Given the description of an element on the screen output the (x, y) to click on. 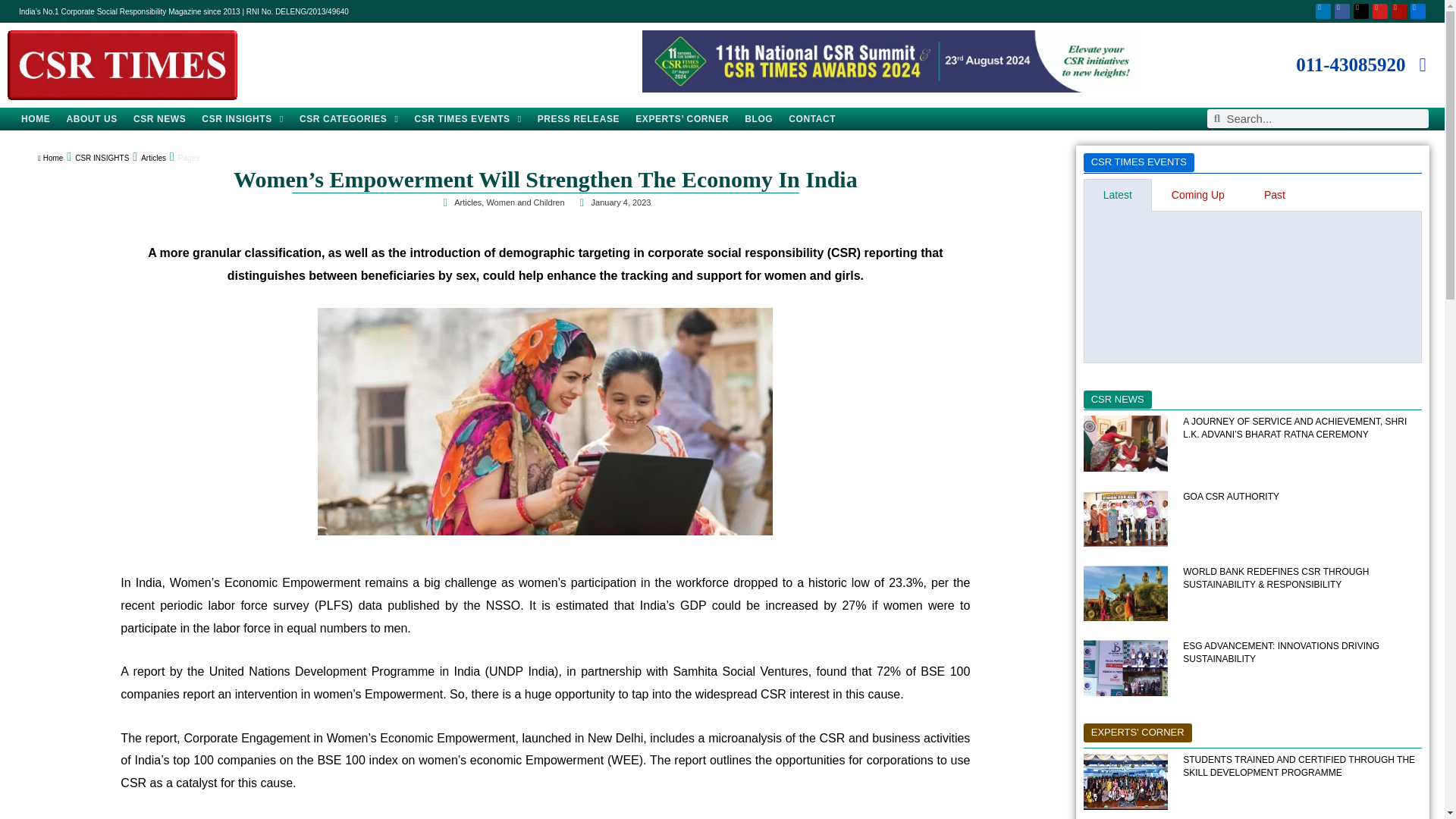
ABOUT US (90, 118)
Linkedin (1323, 11)
CONTACT (812, 118)
YouTube video player (1252, 283)
CSR CATEGORIES (349, 118)
PRESS RELEASE (578, 118)
CSR INSIGHTS (242, 118)
X-twitter (1361, 11)
Youtube (1380, 11)
Facebook (1342, 11)
BLOG (758, 118)
HOME (35, 118)
Instagram (1398, 11)
CSR NEWS (160, 118)
Envelope (1417, 11)
